Given the description of an element on the screen output the (x, y) to click on. 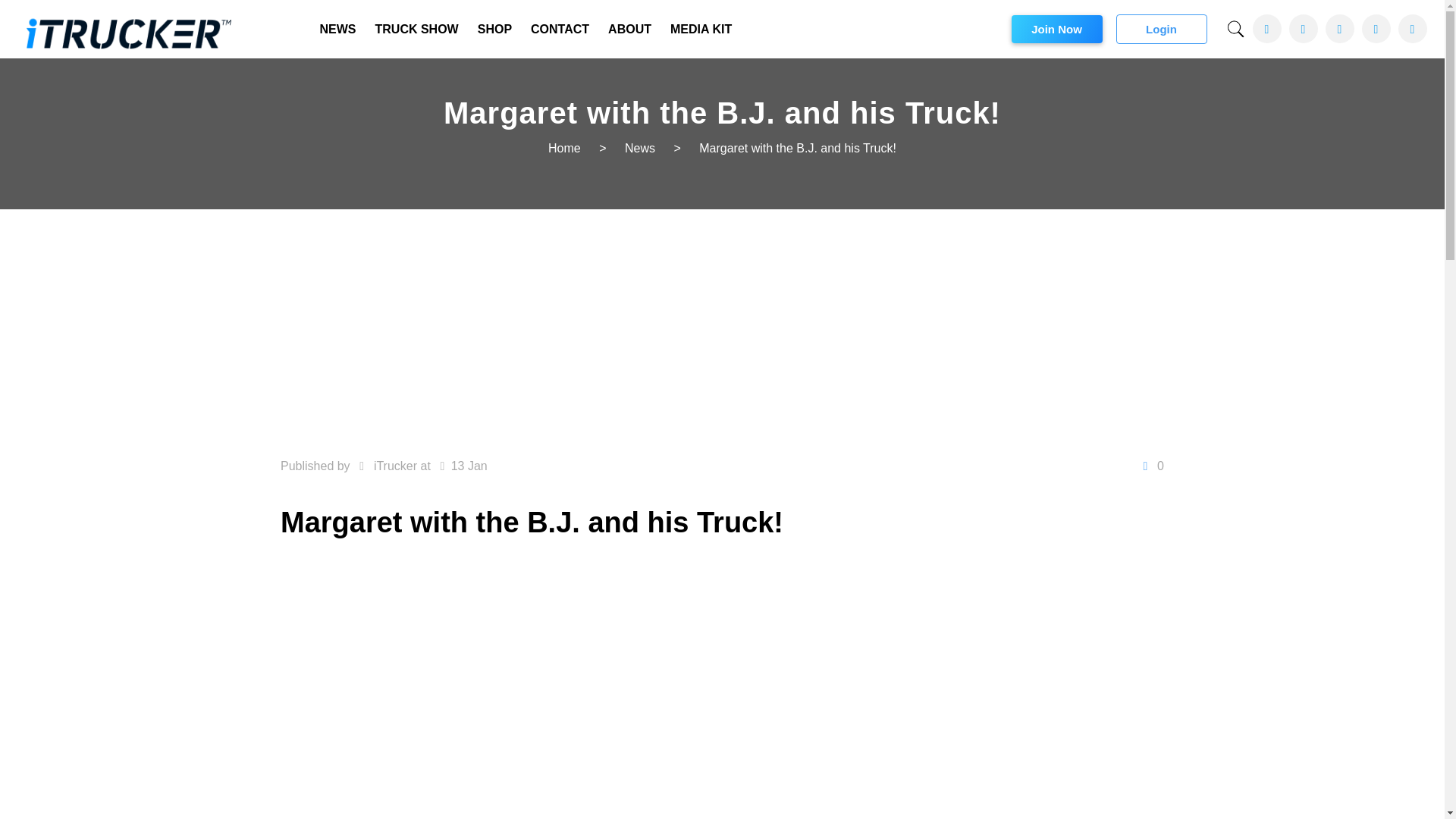
Instagram (1412, 29)
LinkedIn (1375, 29)
Margaret with the B.J. and his Truck! (797, 147)
NEWS (338, 29)
News (639, 147)
YouTube (1339, 29)
Twitter (1302, 29)
SHOP (494, 29)
ABOUT (629, 29)
Login (1161, 29)
